Given the description of an element on the screen output the (x, y) to click on. 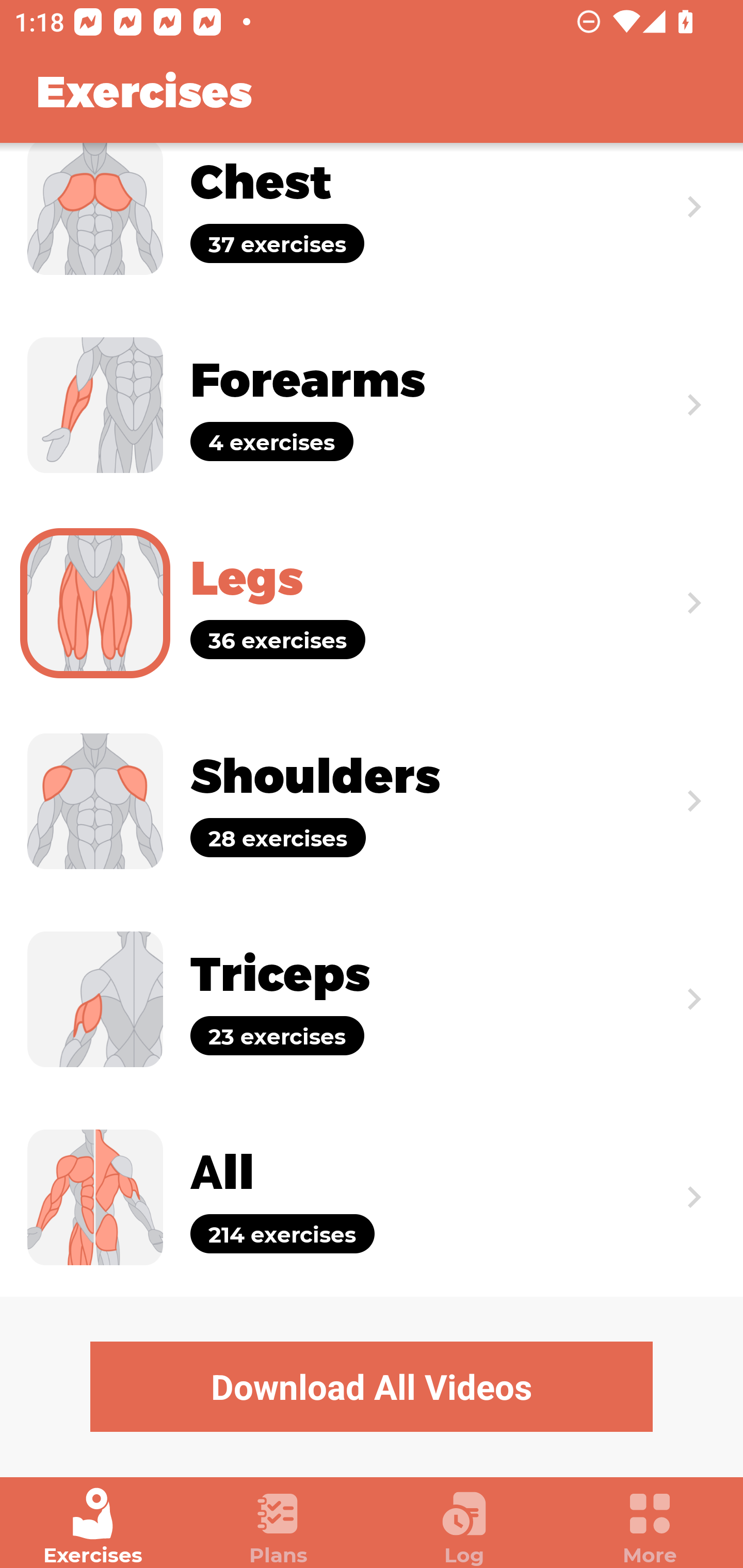
Exercise Chest 37 exercises (371, 223)
Exercise Forearms 4 exercises (371, 404)
Exercise Legs 36 exercises (371, 602)
Exercise Shoulders 28 exercises (371, 801)
Exercise Triceps 23 exercises (371, 999)
Exercise Аll 214 exercises (371, 1196)
Download All Videos (371, 1386)
Exercises (92, 1527)
Plans (278, 1527)
Log (464, 1527)
More (650, 1527)
